Given the description of an element on the screen output the (x, y) to click on. 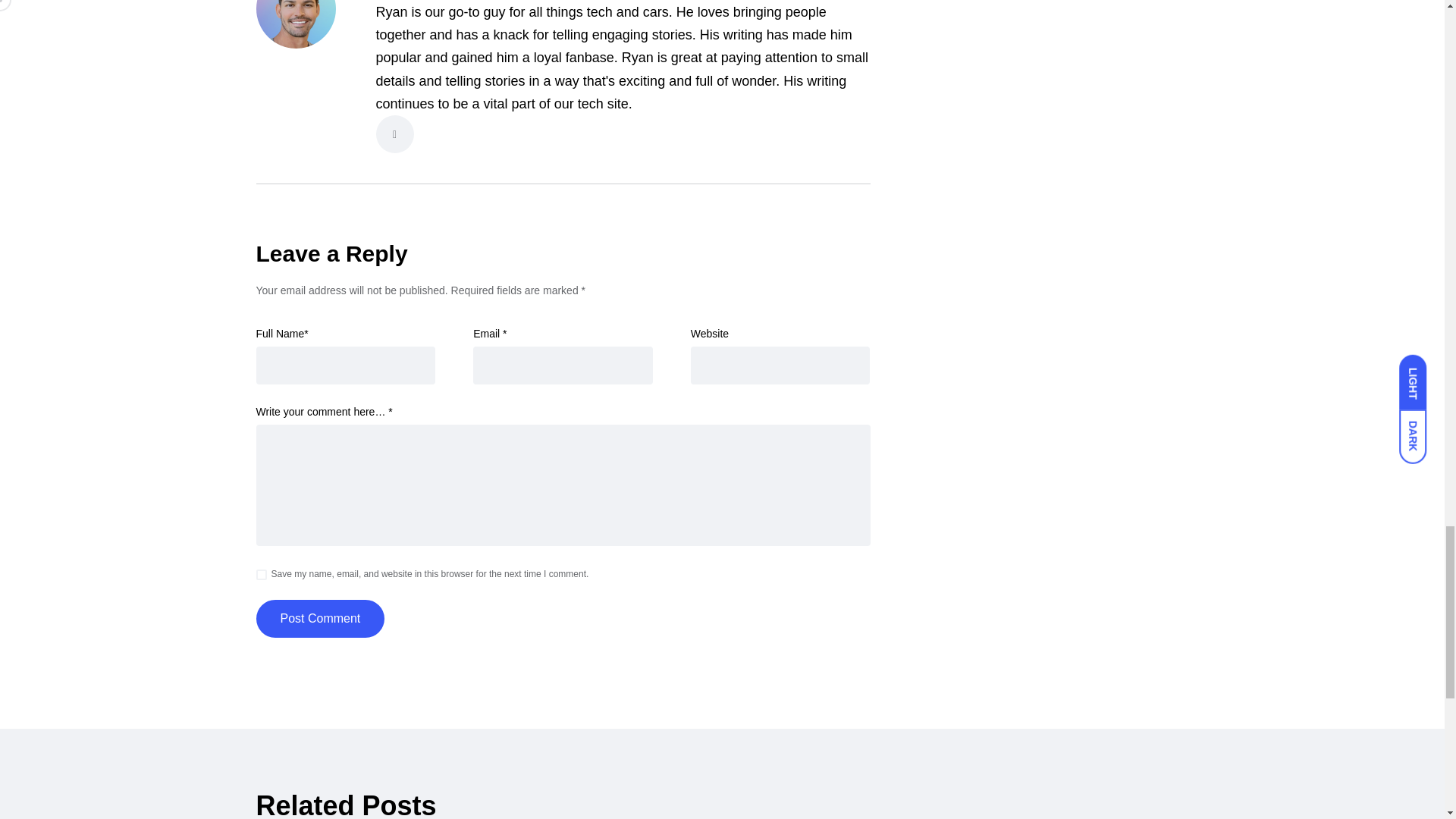
Post Comment (320, 618)
Post Comment (320, 618)
